Given the description of an element on the screen output the (x, y) to click on. 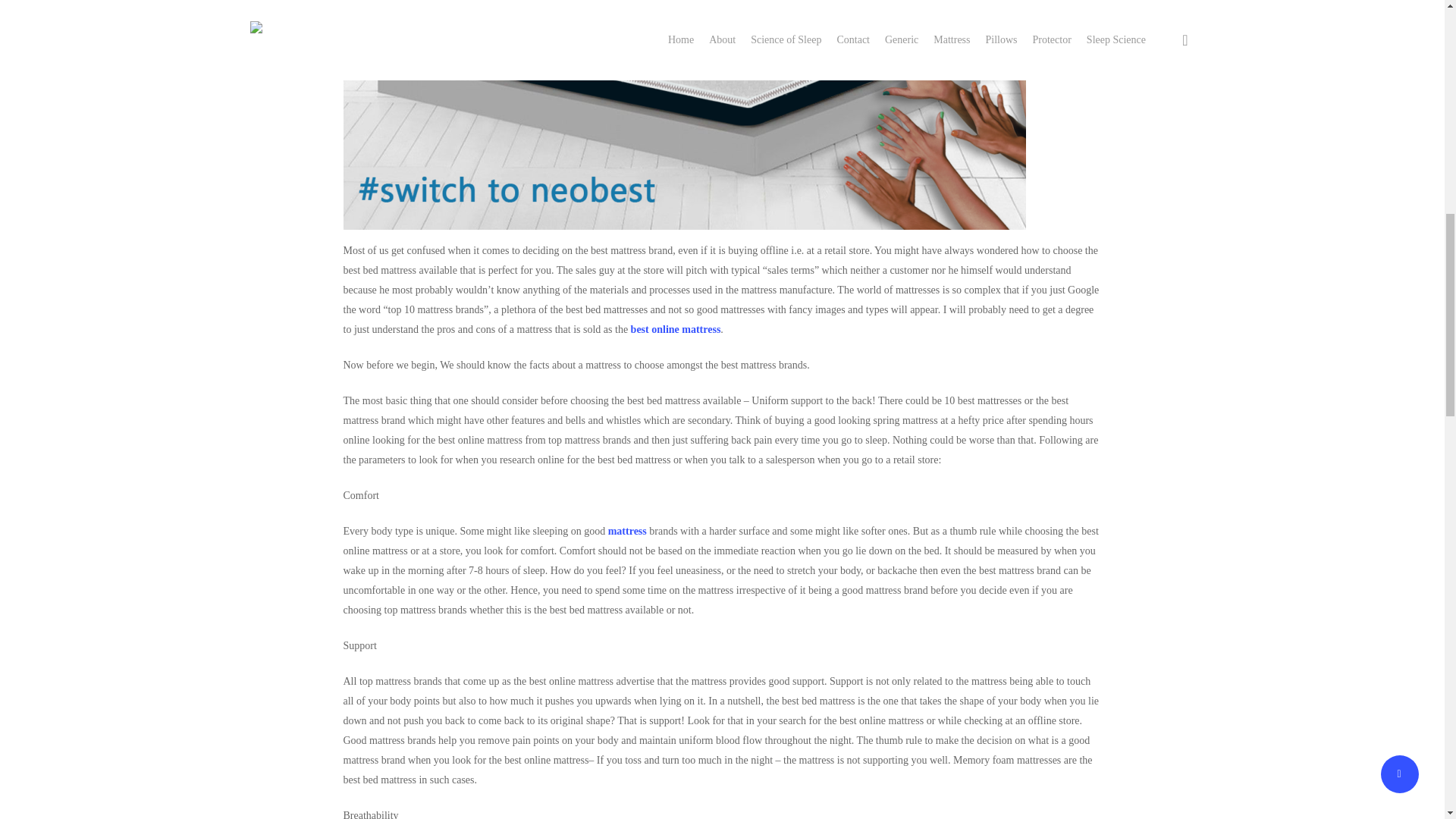
best online mattress (675, 328)
mattress (627, 531)
